Given the description of an element on the screen output the (x, y) to click on. 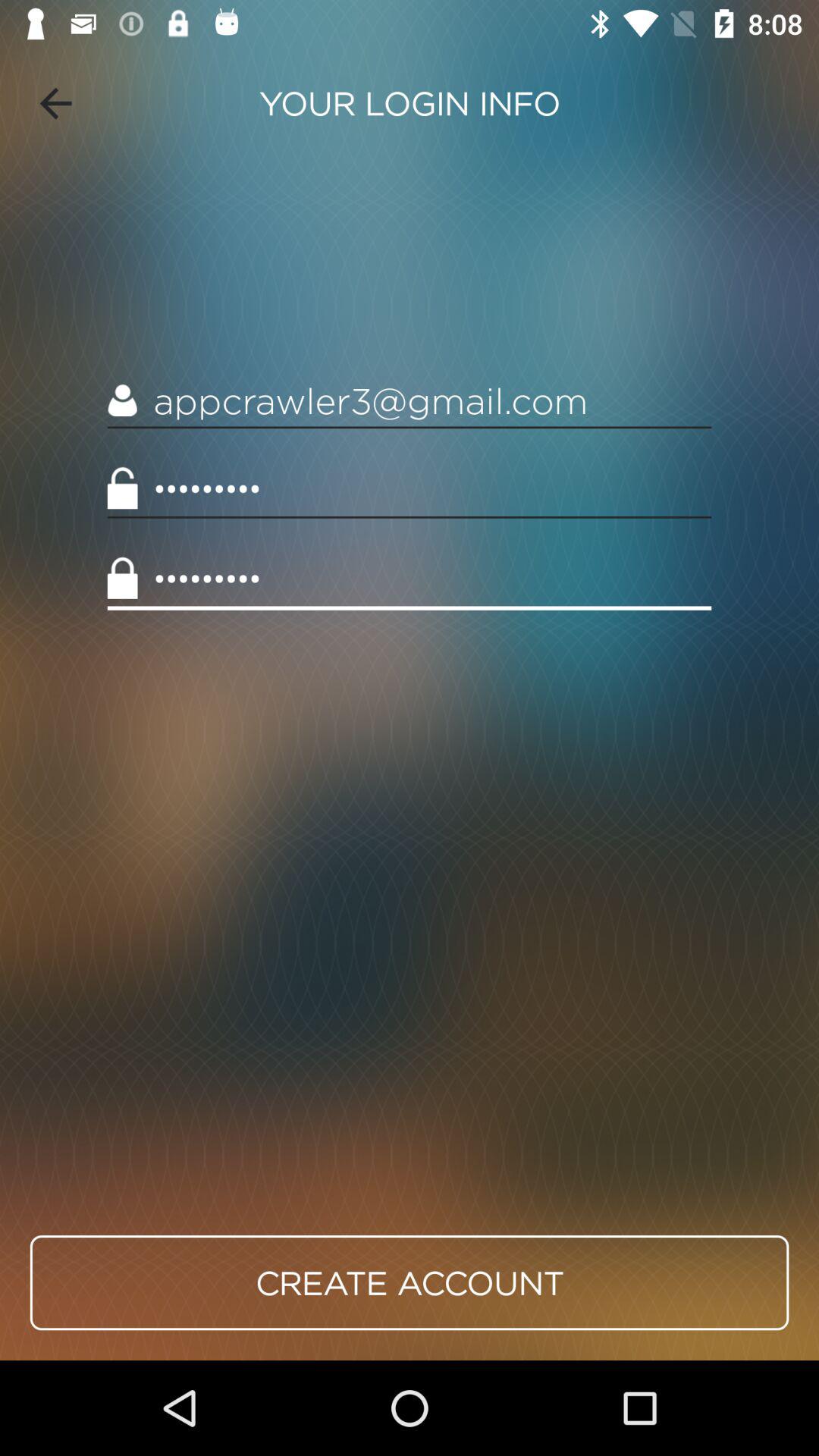
choose the create account button (409, 1282)
